Given the description of an element on the screen output the (x, y) to click on. 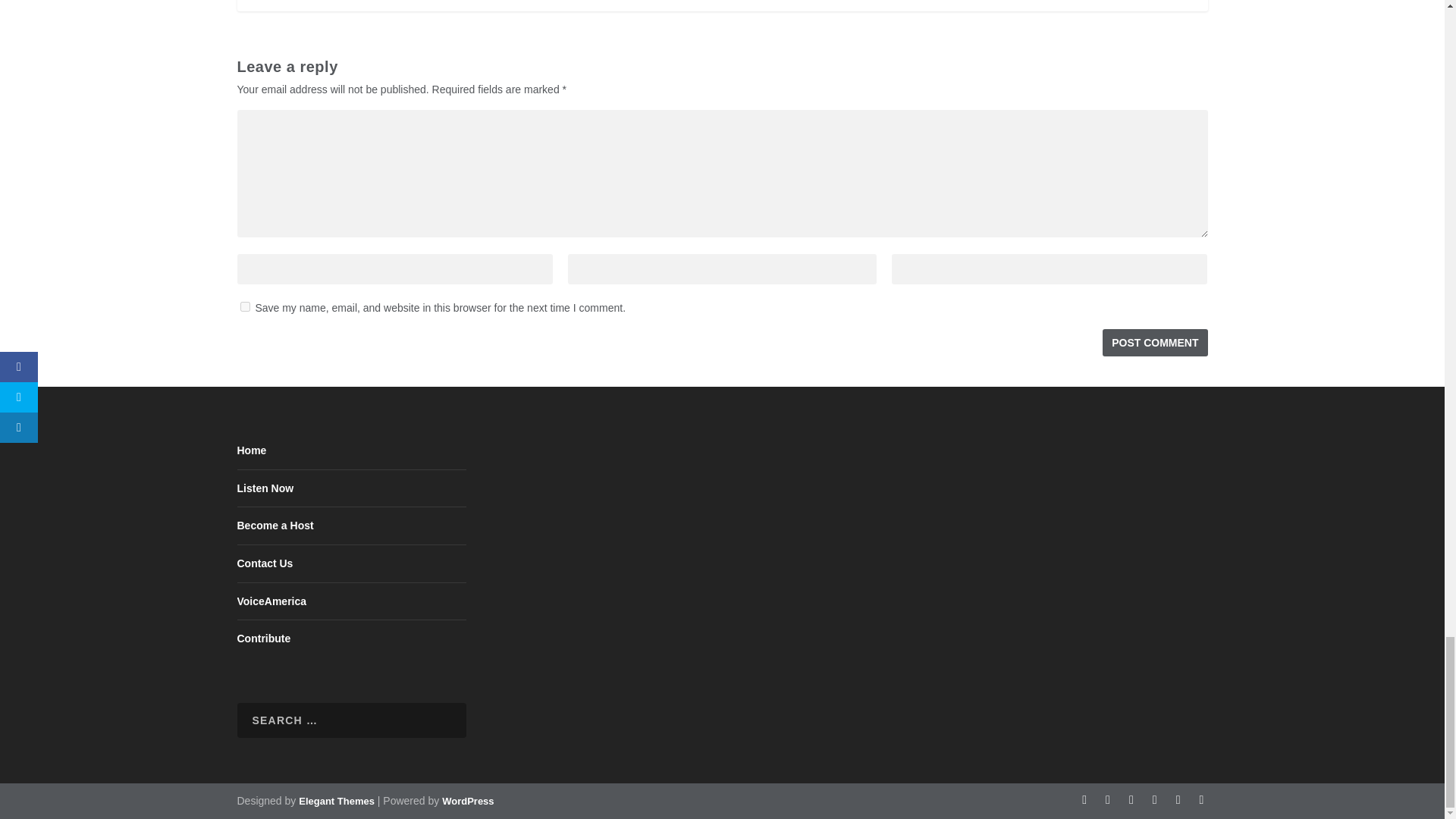
yes (244, 307)
Post Comment (1154, 342)
